Given the description of an element on the screen output the (x, y) to click on. 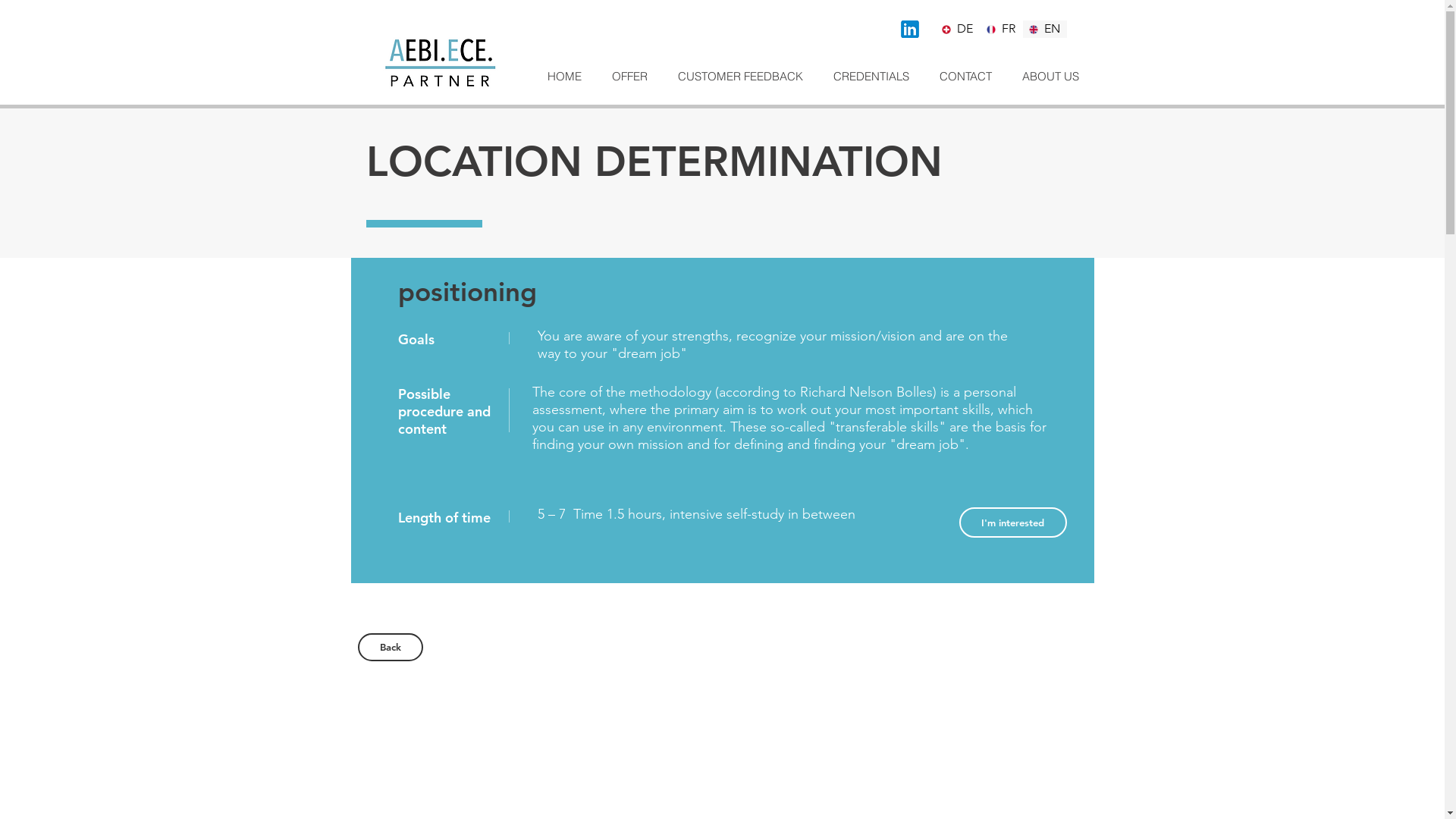
Back Element type: text (390, 647)
CREDENTIALS Element type: text (870, 76)
CONTACT Element type: text (964, 76)
I'm interested Element type: text (1012, 522)
OFFER Element type: text (629, 76)
ABOUT US Element type: text (1050, 76)
CUSTOMER FEEDBACK Element type: text (740, 76)
DE Element type: text (957, 28)
FR Element type: text (1000, 28)
EN Element type: text (1044, 28)
HOME Element type: text (564, 76)
